Given the description of an element on the screen output the (x, y) to click on. 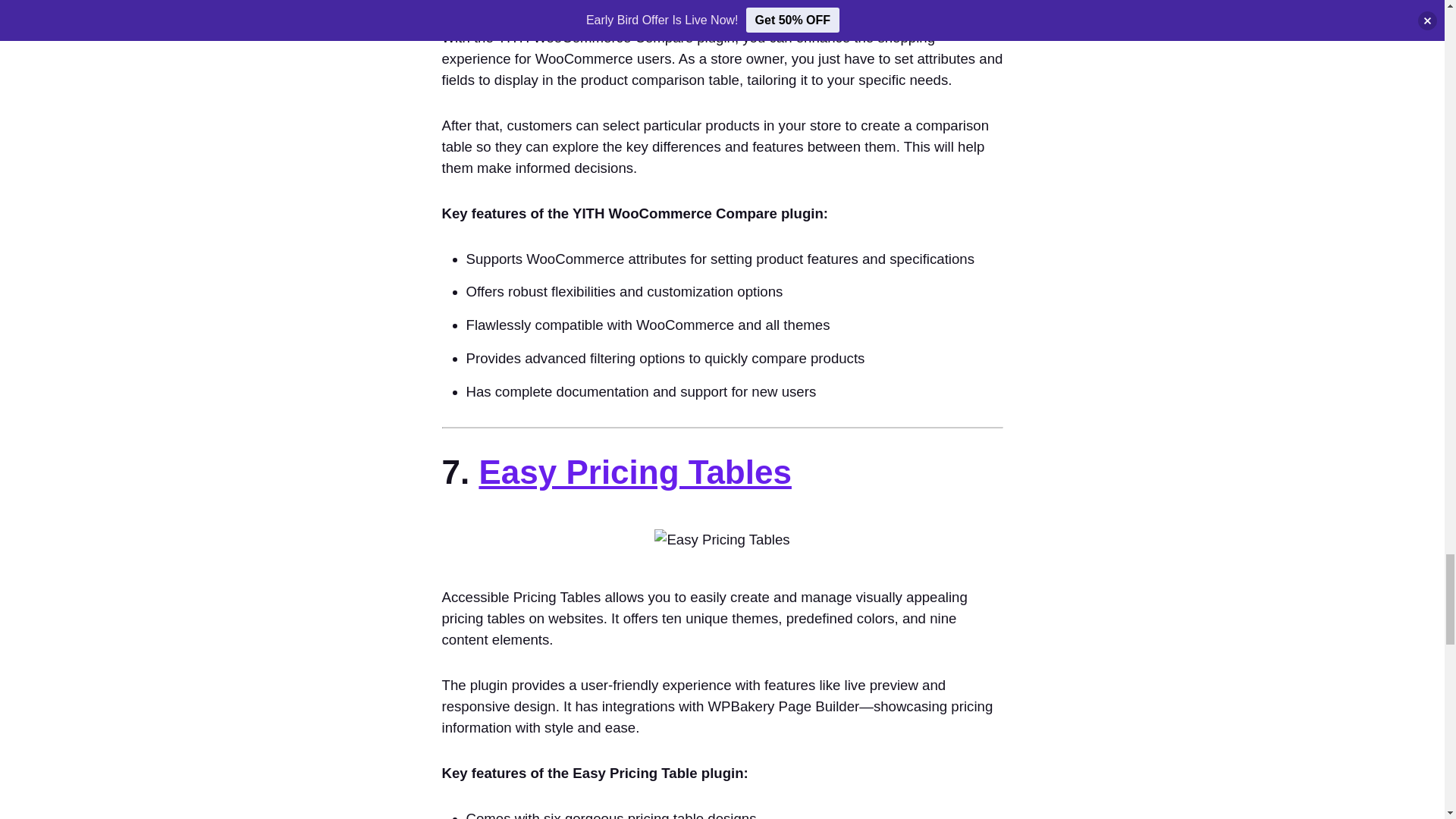
Easy Pricing Tables (634, 471)
